Given the description of an element on the screen output the (x, y) to click on. 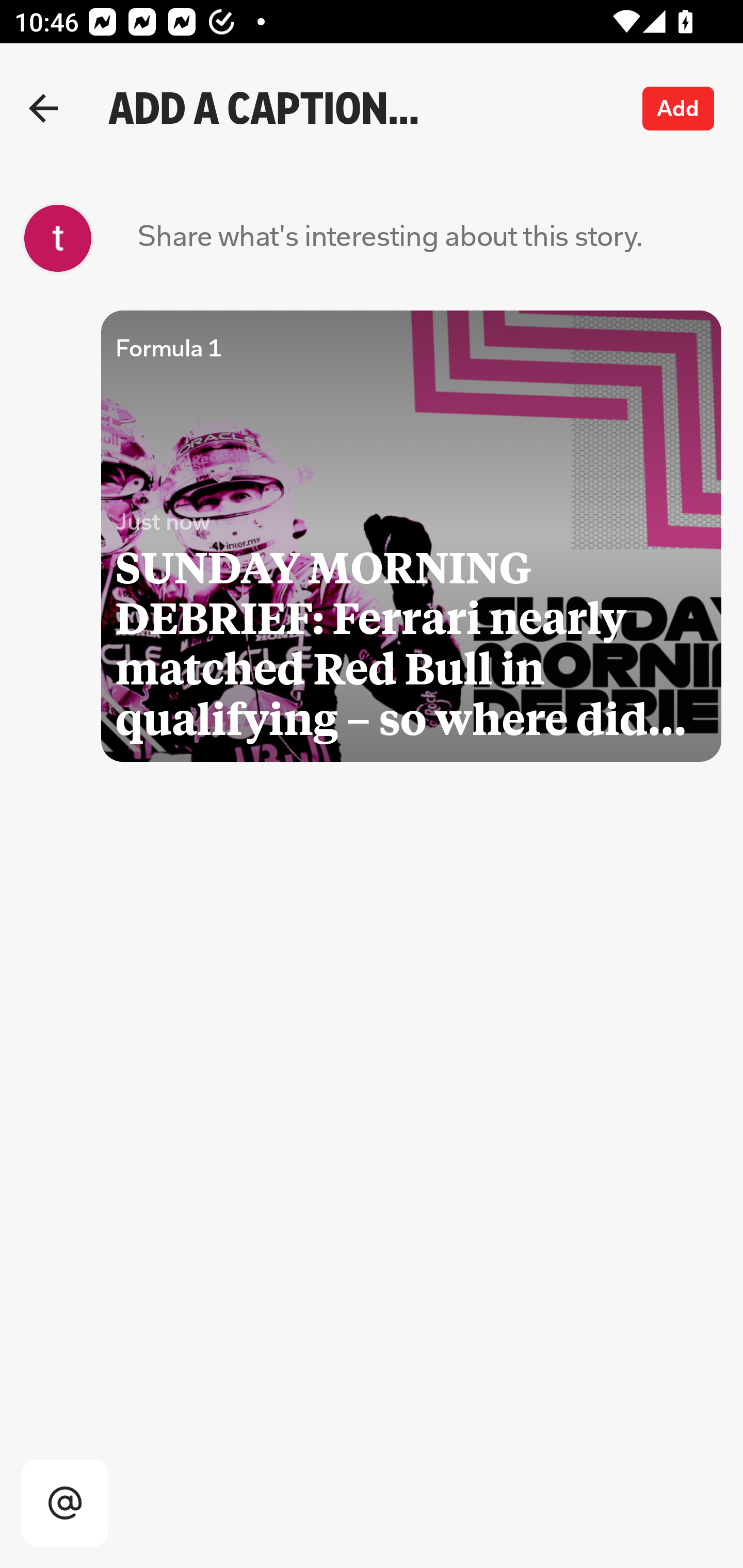
Add (678, 108)
Share what's interesting about this story. (390, 238)
